Given the description of an element on the screen output the (x, y) to click on. 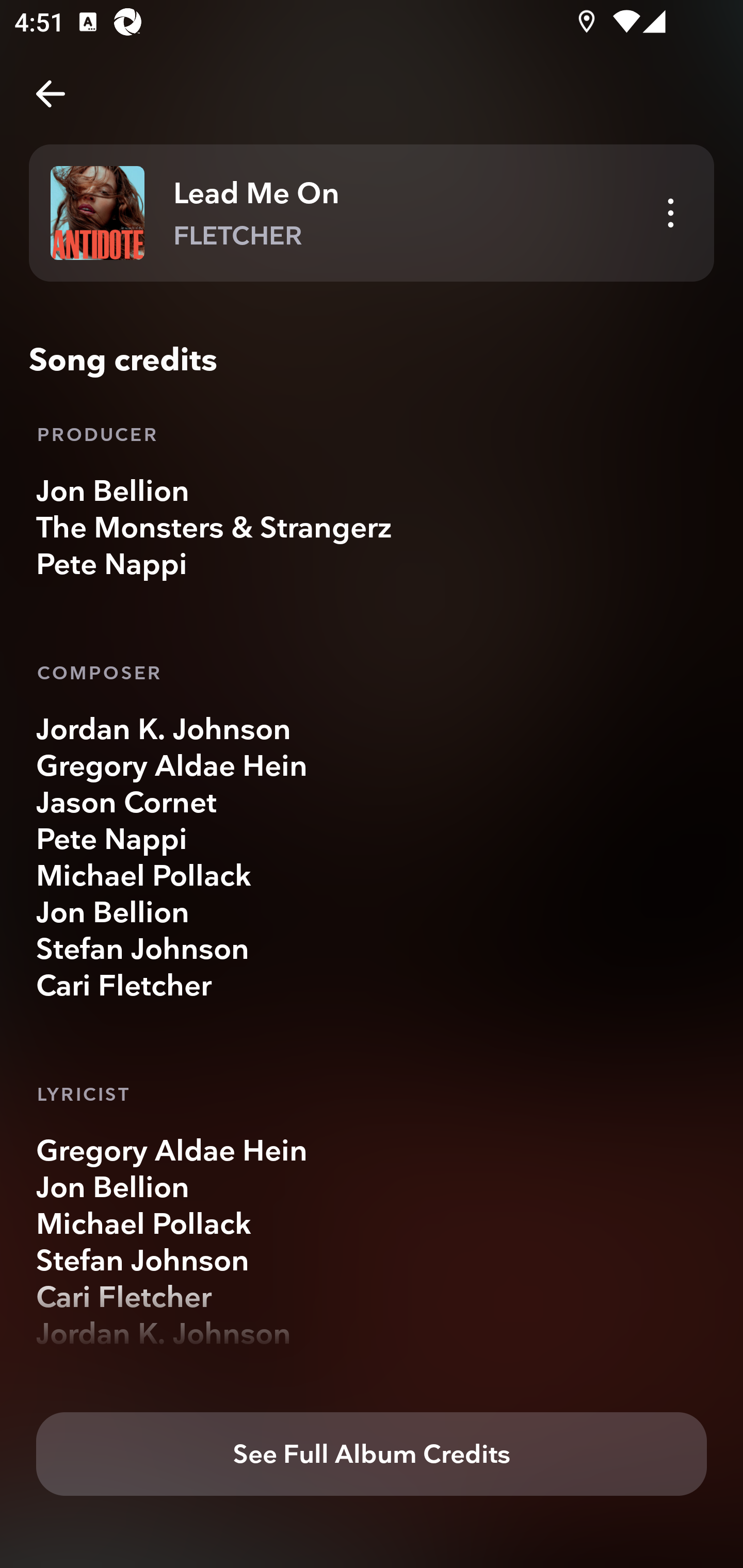
Lead Me On FLETCHER (371, 213)
See Full Album Credits (371, 1453)
